Given the description of an element on the screen output the (x, y) to click on. 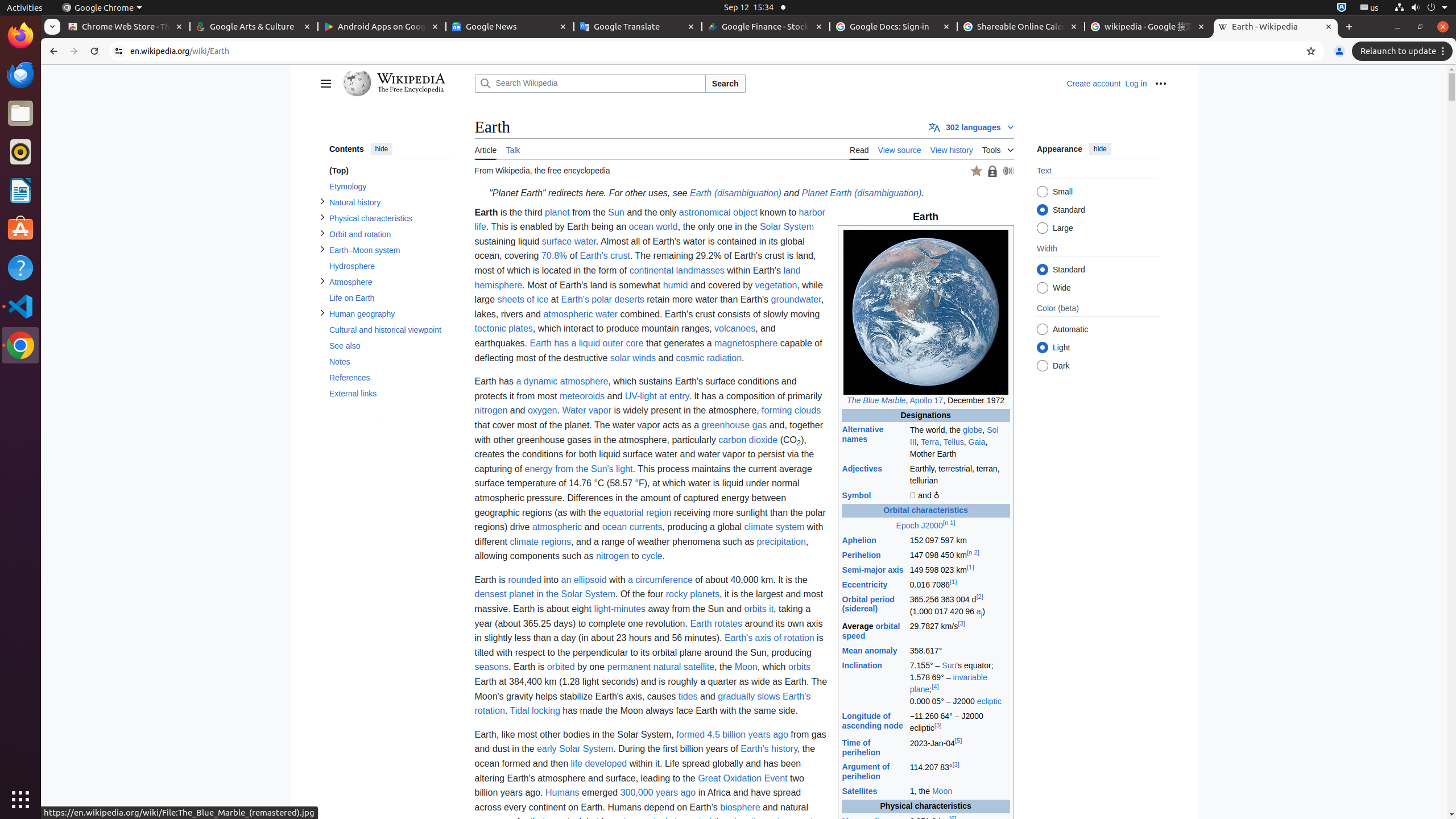
Life on Earth Element type: link (390, 298)
Symbol Element type: link (856, 495)
Alternative names Element type: link (862, 434)
Ubuntu Software Element type: push-button (20, 229)
permanent Element type: link (628, 667)
